Given the description of an element on the screen output the (x, y) to click on. 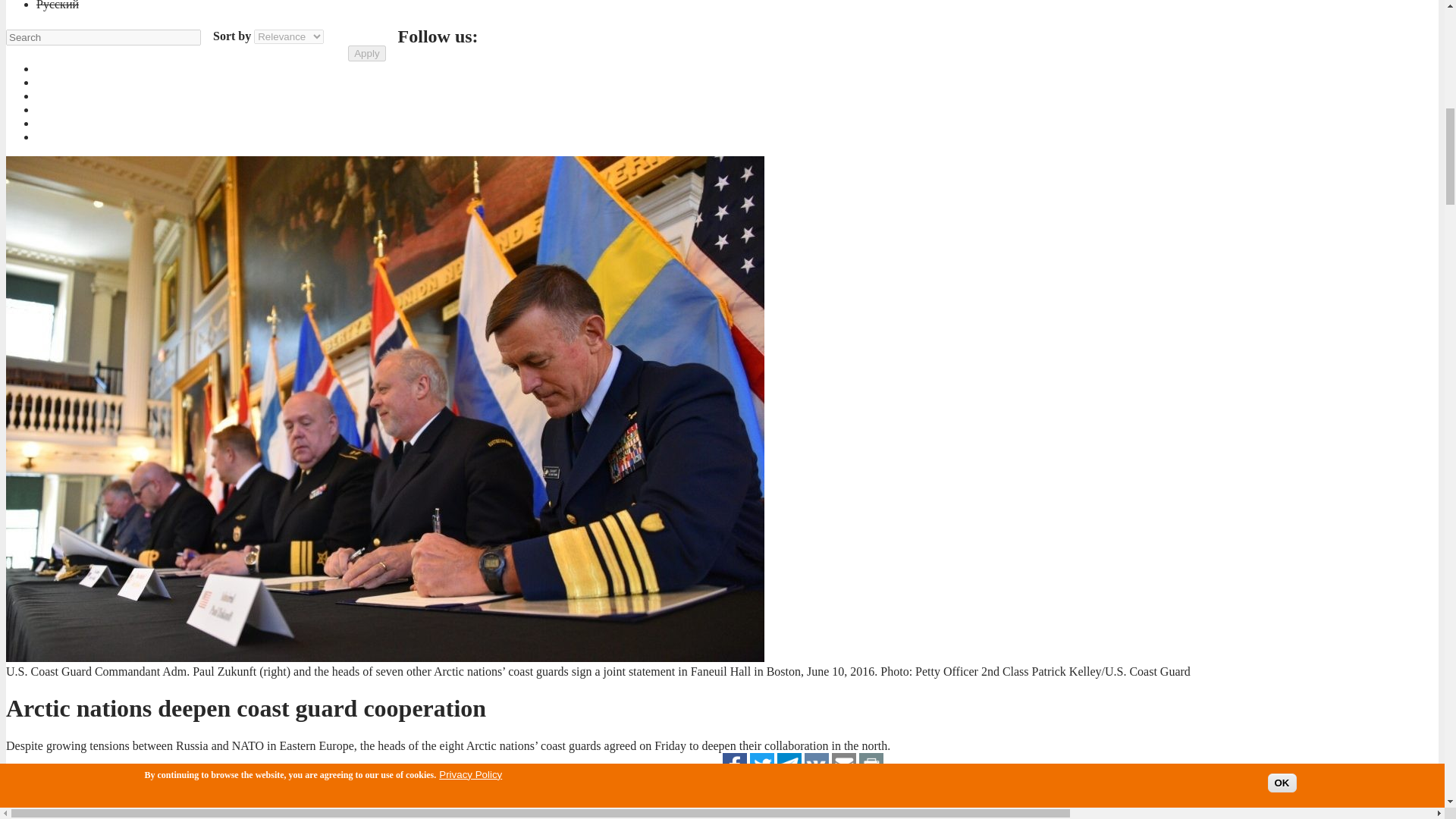
Apply (366, 53)
Radio Canada International (78, 775)
Apply (366, 53)
